Given the description of an element on the screen output the (x, y) to click on. 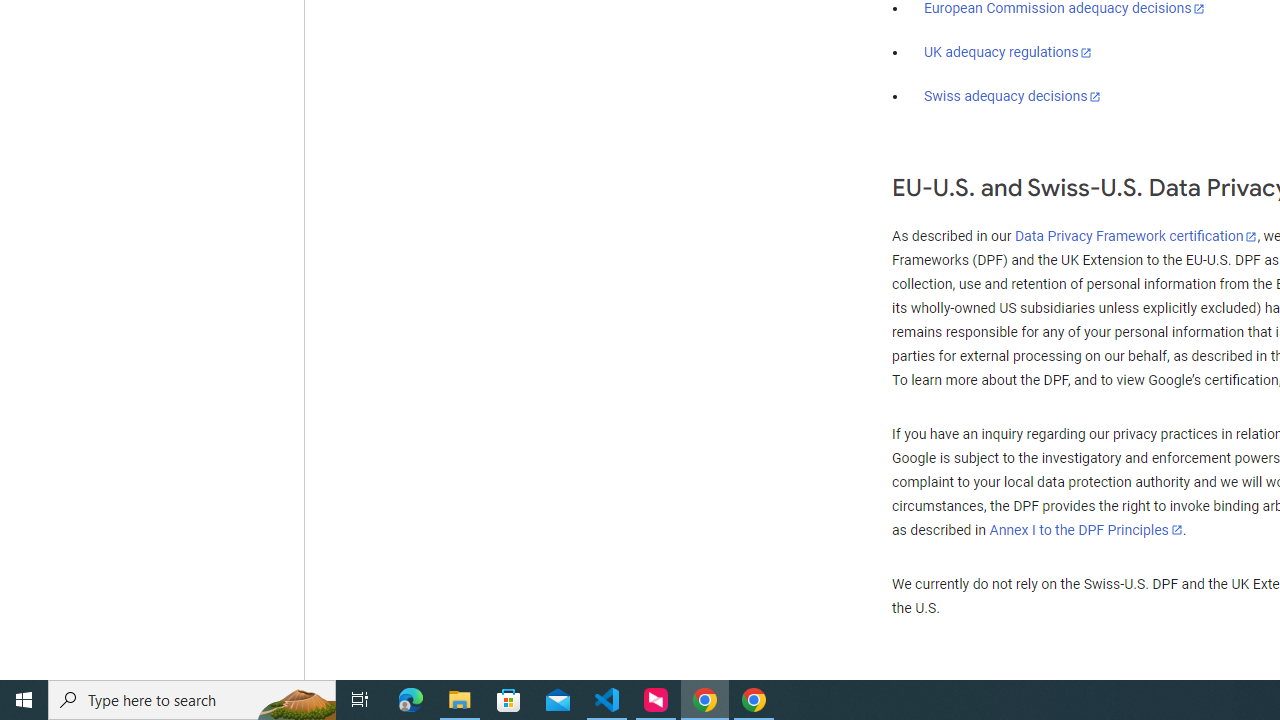
Swiss adequacy decisions (1013, 96)
Annex I to the DPF Principles (1085, 530)
European Commission adequacy decisions (1064, 9)
Data Privacy Framework certification (1135, 237)
UK adequacy regulations (1008, 52)
